Given the description of an element on the screen output the (x, y) to click on. 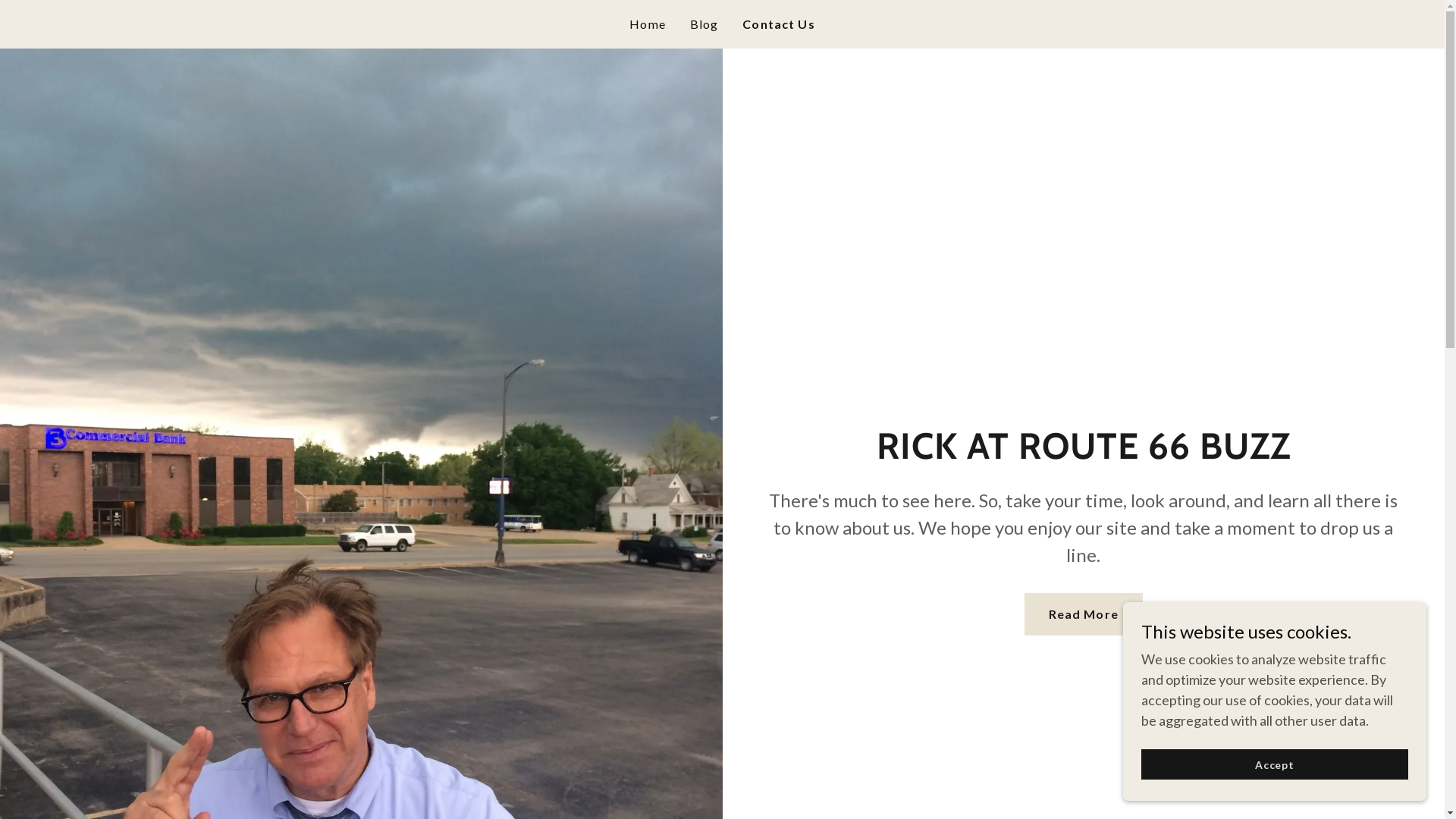
Blog Element type: text (704, 23)
Read More Element type: text (1083, 614)
Contact Us Element type: text (778, 24)
Home Element type: text (647, 23)
Accept Element type: text (1274, 764)
